Given the description of an element on the screen output the (x, y) to click on. 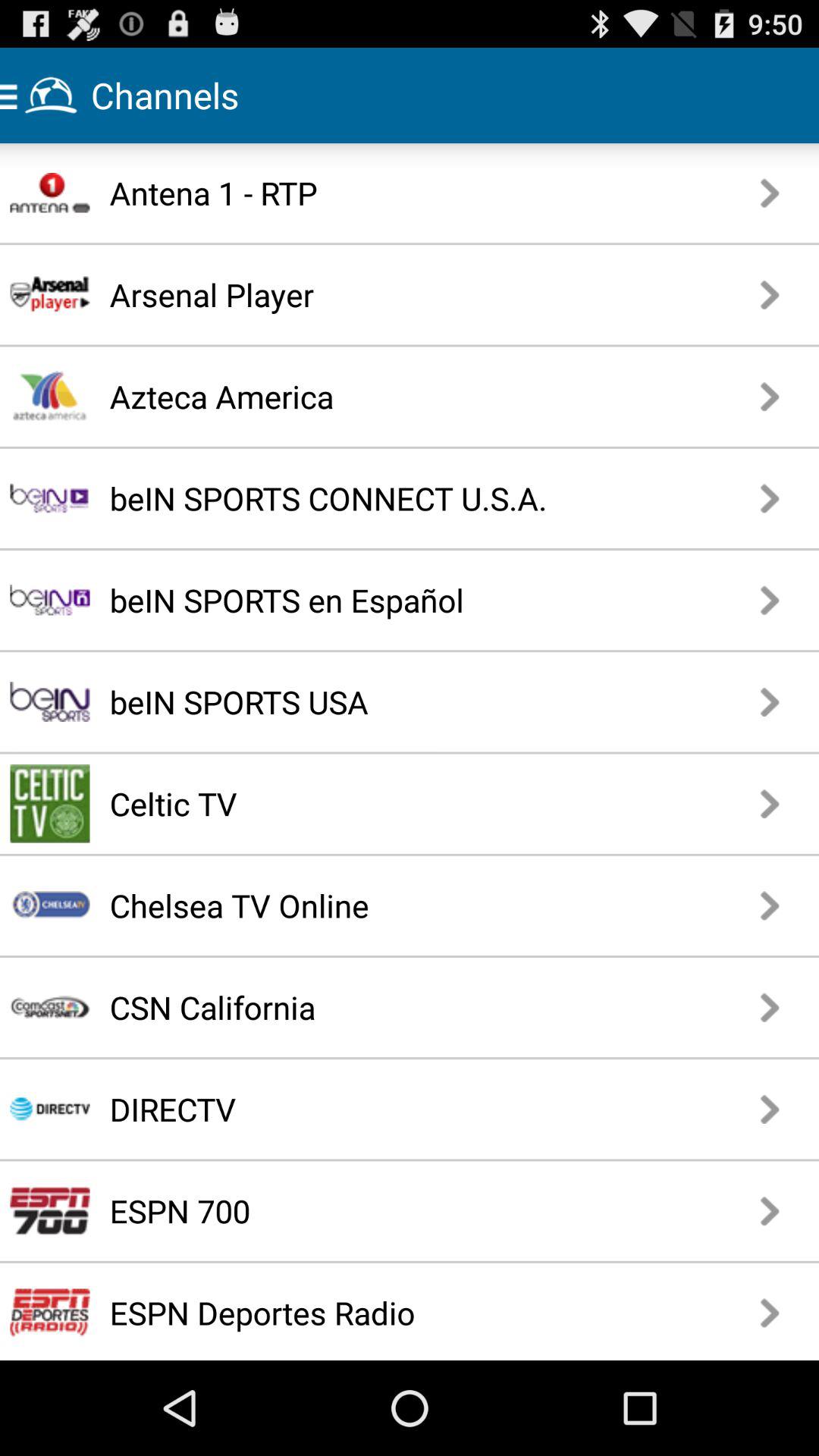
launch the directv app (355, 1108)
